Given the description of an element on the screen output the (x, y) to click on. 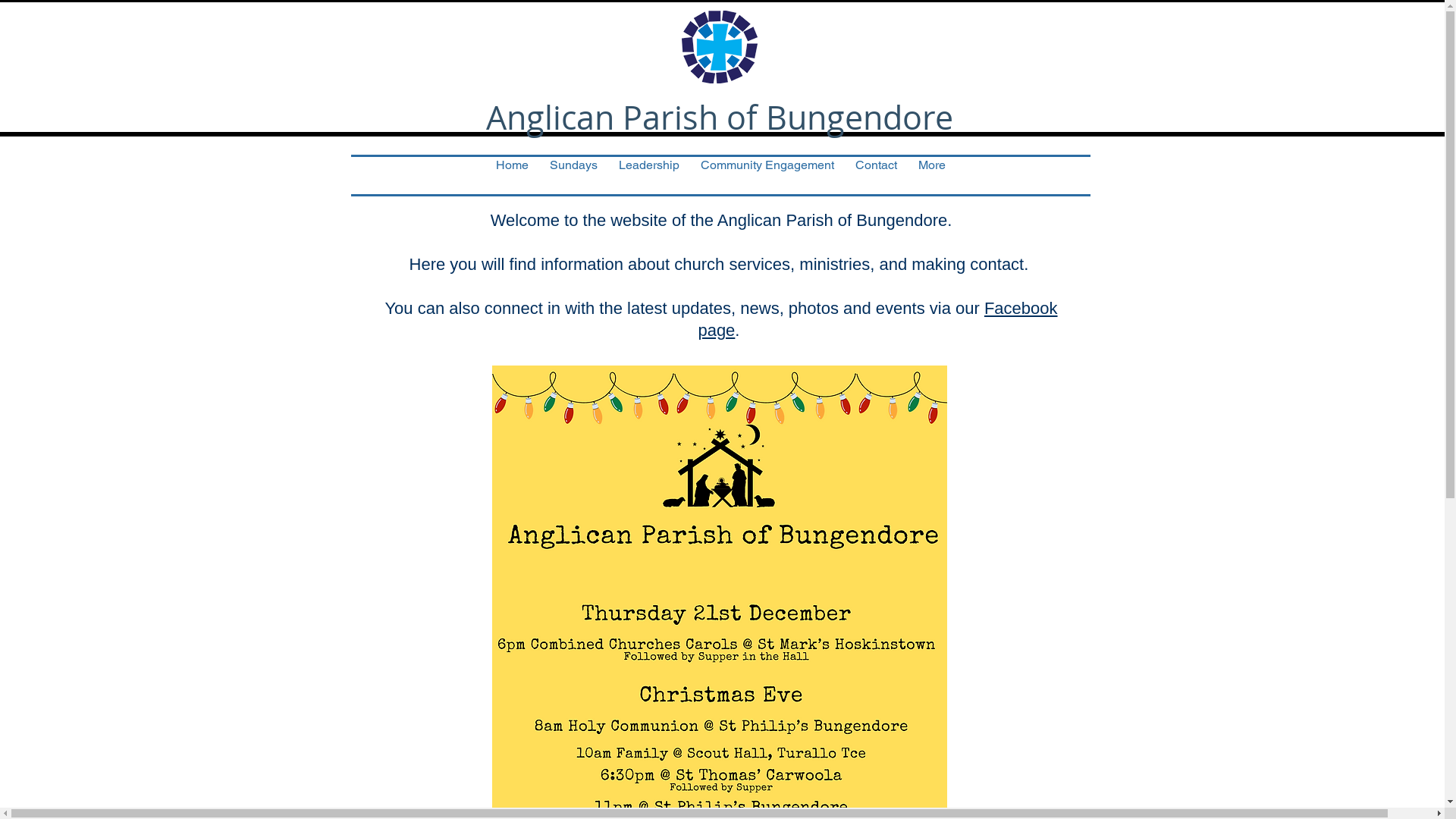
Bungendore-Icon_WEB 2.png Element type: hover (718, 46)
Home Element type: text (512, 175)
Facebook page Element type: text (877, 318)
Contact Element type: text (875, 175)
Sundays Element type: text (572, 175)
Anglican Parish of Bungendore Element type: text (718, 116)
Community Engagement Element type: text (767, 175)
Leadership Element type: text (649, 175)
